Given the description of an element on the screen output the (x, y) to click on. 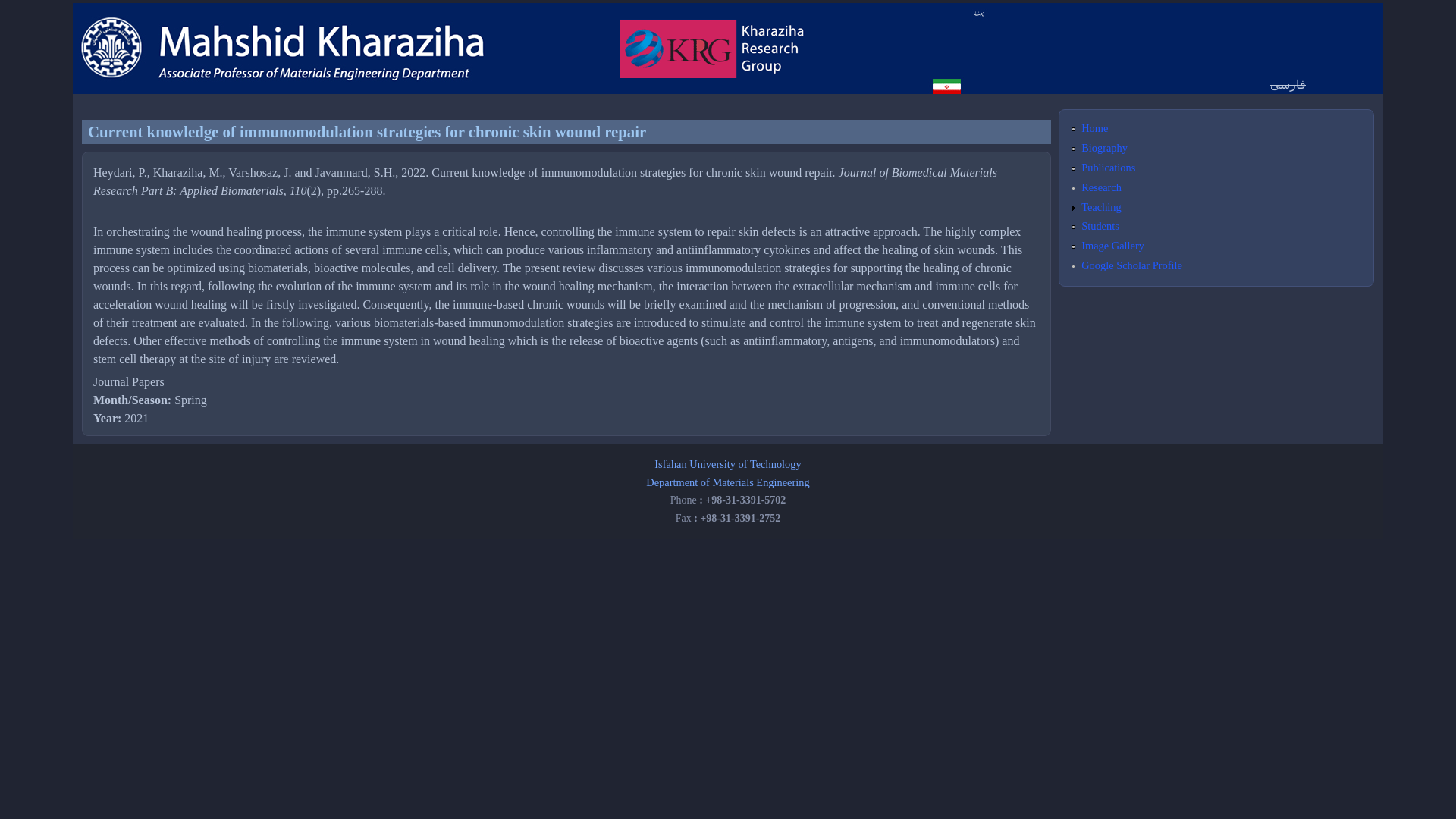
Image Gallery (1112, 245)
Image Gallery (1112, 245)
Google Scholar Profile (1131, 265)
Course Teaching (1101, 205)
Department of Materials Engineering (727, 481)
Home (1094, 128)
Teaching (1101, 205)
Home (1094, 128)
Isfahan University of Technology (726, 463)
Students (1100, 225)
